Given the description of an element on the screen output the (x, y) to click on. 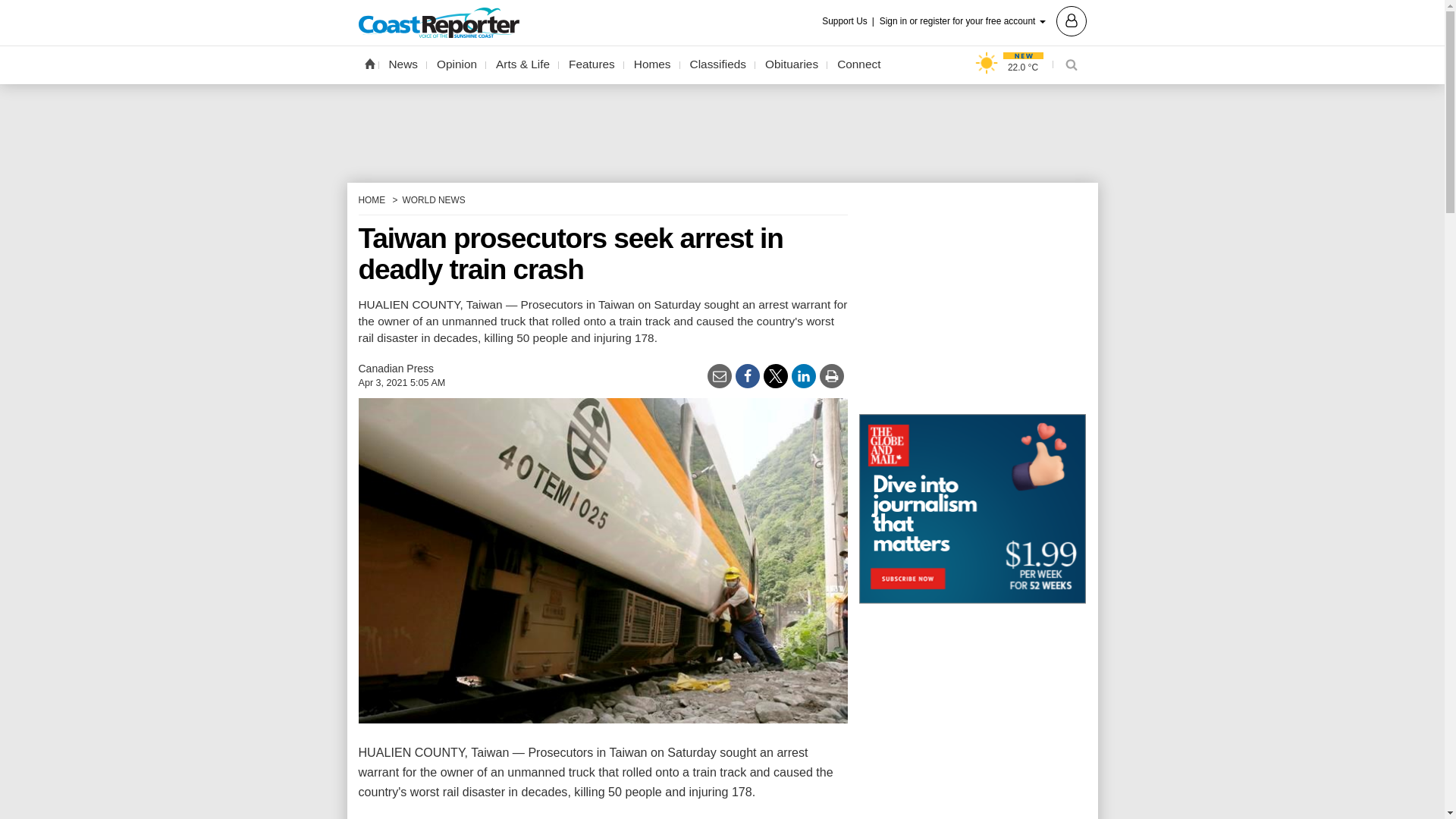
Home (368, 63)
Support Us (849, 21)
Opinion (456, 64)
News (403, 64)
Sign in or register for your free account (982, 20)
